Given the description of an element on the screen output the (x, y) to click on. 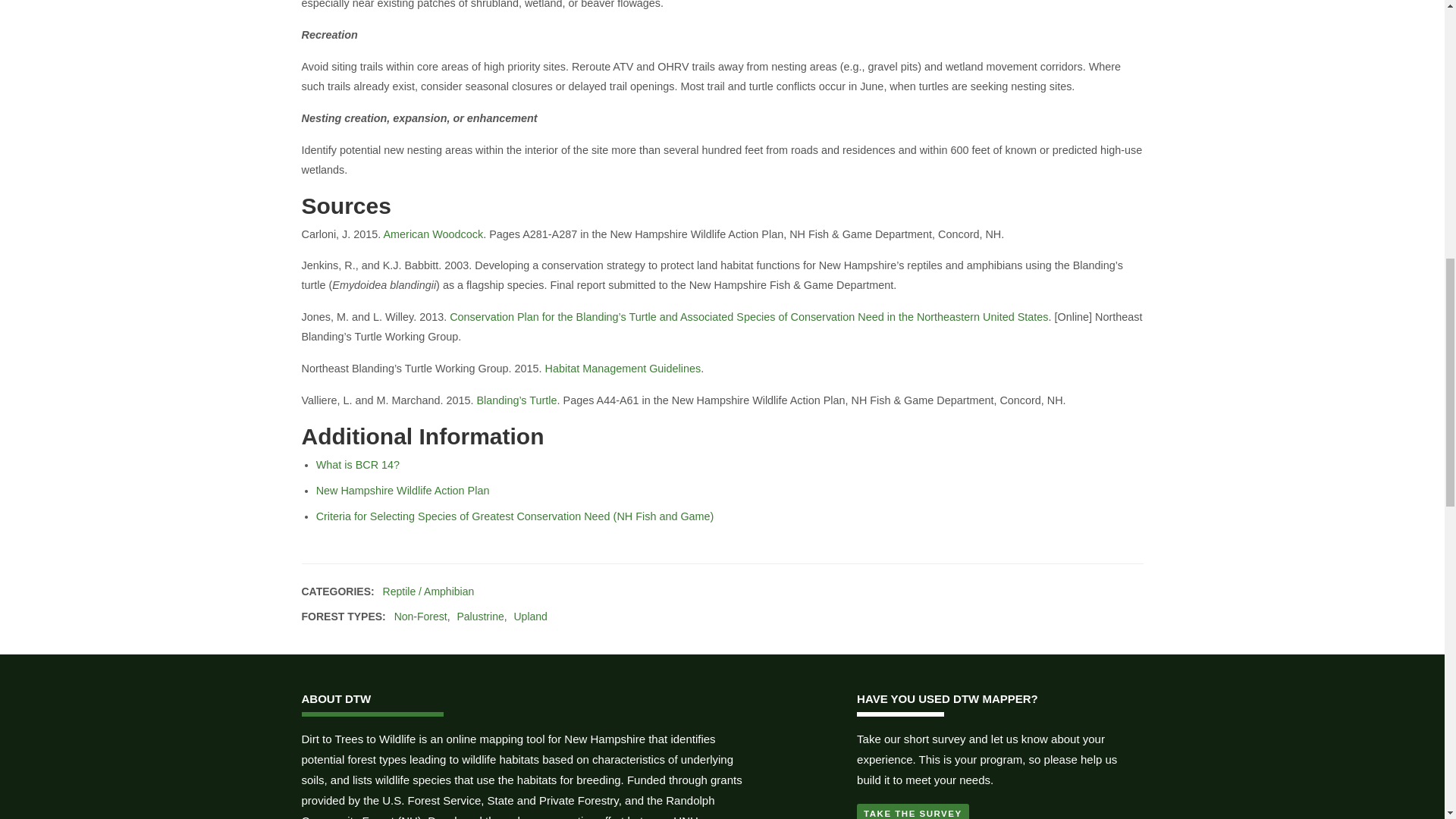
What is BCR 14? (356, 464)
TAKE THE SURVEY (913, 811)
New Hampshire Wildlife Action Plan (402, 490)
New Hampshire Wildlife Action Plan (402, 490)
Palustrine (480, 616)
What is BCR 14? (356, 464)
American Woodcock (433, 234)
Habitat Management Guidelines (622, 368)
Non-Forest (420, 616)
Upland (530, 616)
